Given the description of an element on the screen output the (x, y) to click on. 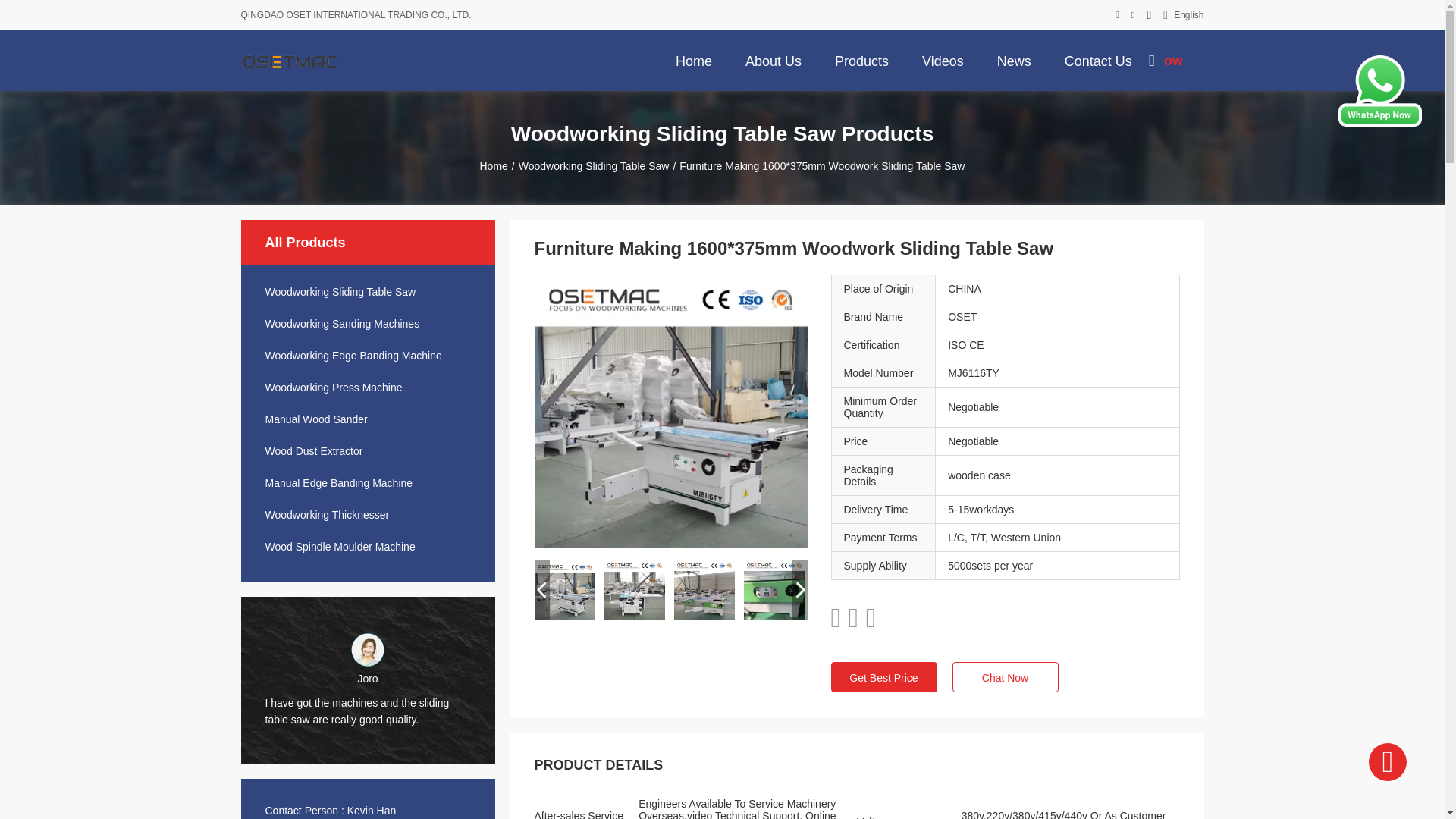
Products (861, 60)
Home (693, 60)
whatsapp Now (1380, 122)
About Us (773, 60)
